Given the description of an element on the screen output the (x, y) to click on. 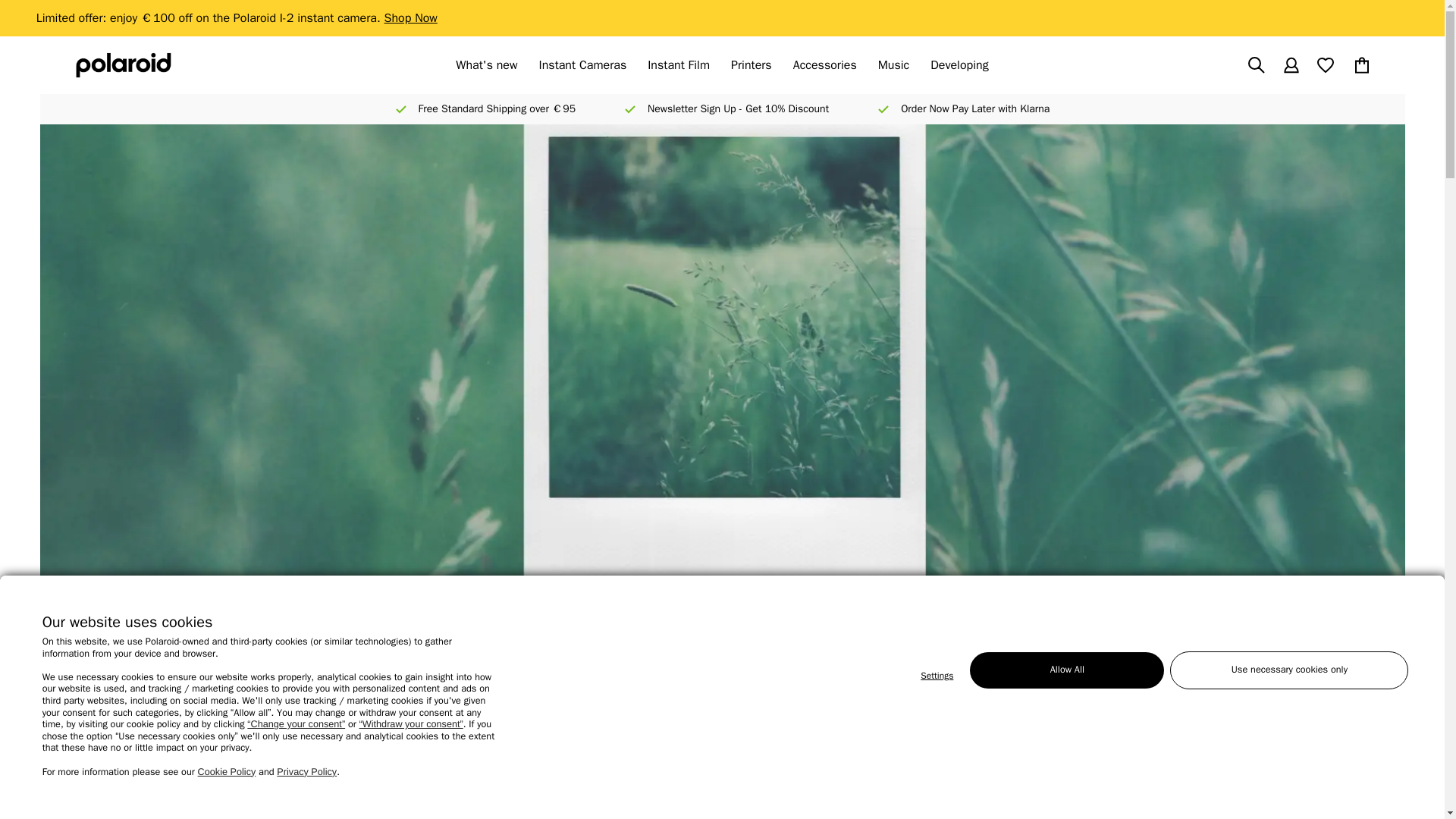
Use necessary cookies only (1288, 670)
Allow All (1066, 669)
Settings (936, 675)
Privacy Policy (306, 771)
Cookie Policy (227, 771)
